Given the description of an element on the screen output the (x, y) to click on. 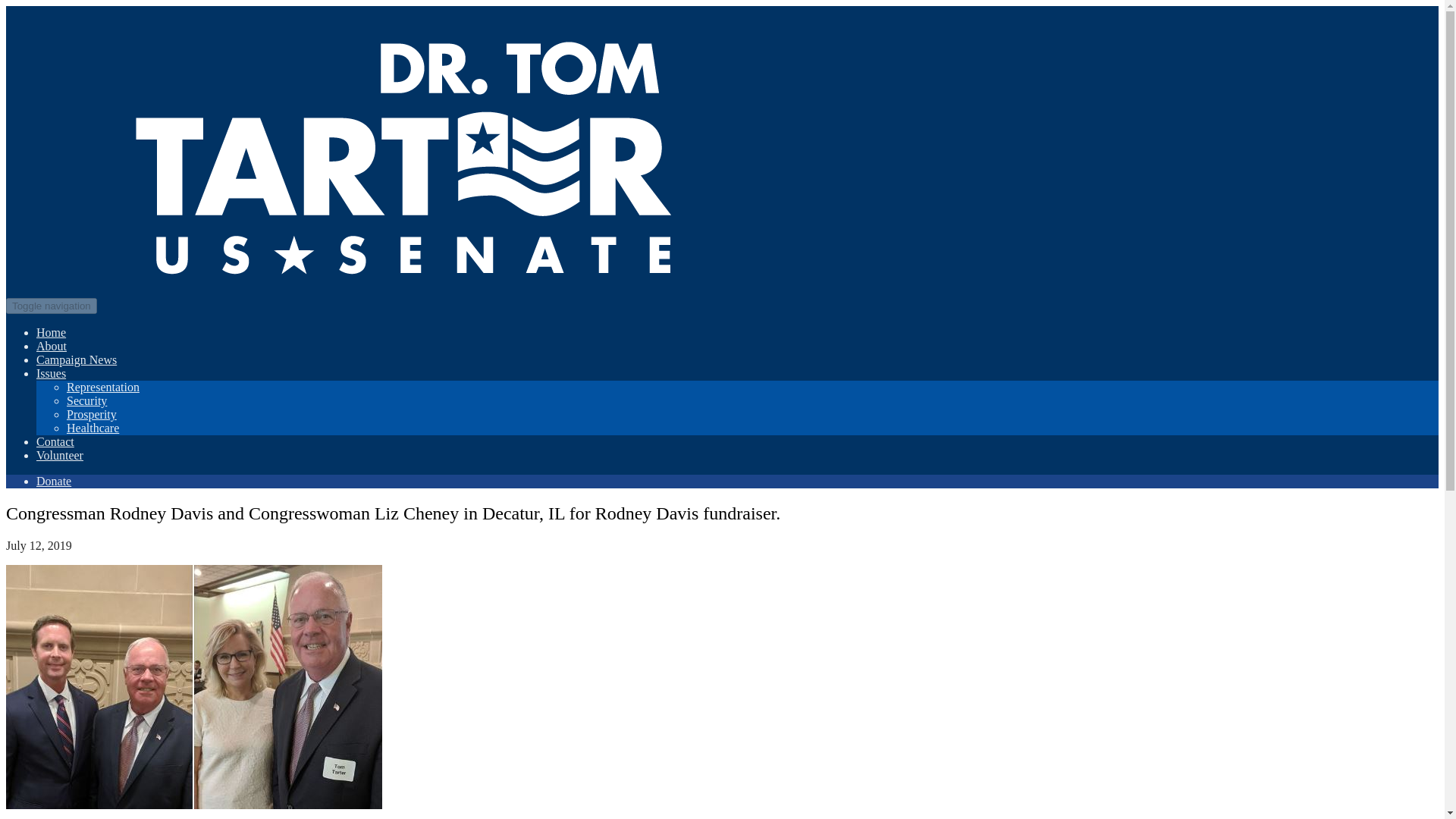
Security (86, 400)
Campaign News (76, 359)
Contact (55, 440)
Representation (102, 386)
Home (50, 332)
Dr. Tom Tarter for U.S. Senate (400, 305)
Volunteer (59, 454)
Prosperity (91, 413)
Issues (50, 373)
Healthcare (92, 427)
